Given the description of an element on the screen output the (x, y) to click on. 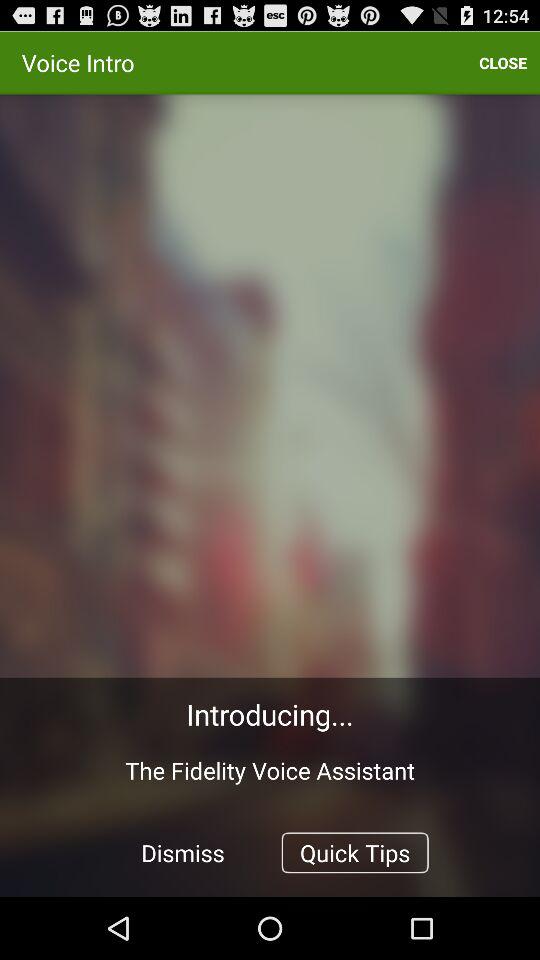
select button to the left of quick tips icon (183, 852)
